Given the description of an element on the screen output the (x, y) to click on. 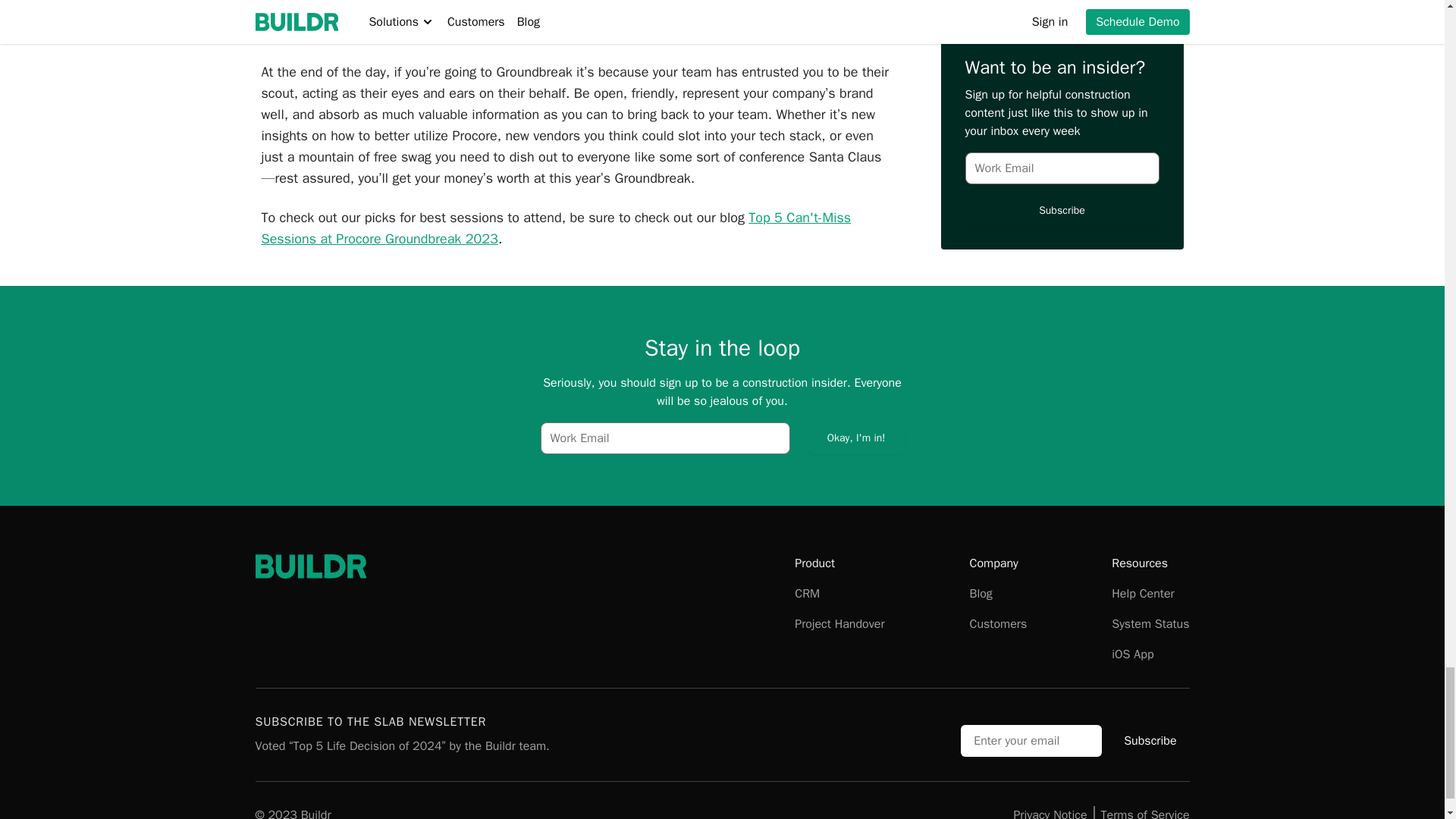
Help Center (1142, 593)
Okay, I'm in! (856, 438)
Project Handover (838, 623)
Customers (997, 623)
Top 5 Can't-Miss Sessions at Procore Groundbreak 2023 (555, 228)
Privacy Notice (1049, 812)
iOS App (1132, 654)
Subscribe (1149, 740)
System Status (1150, 623)
CRM (806, 593)
Terms of Service (1144, 812)
Blog (980, 593)
